Given the description of an element on the screen output the (x, y) to click on. 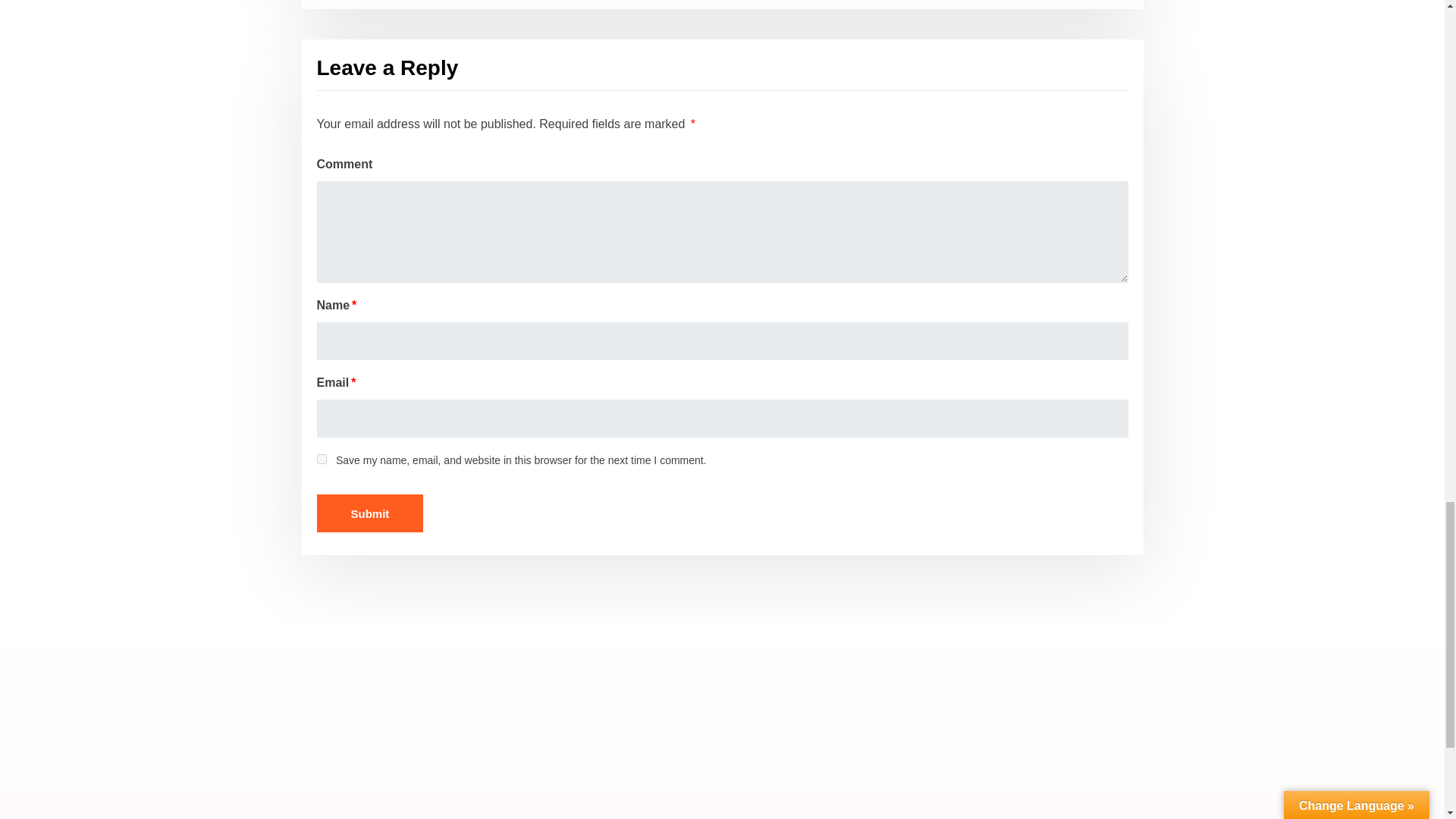
Submit (370, 513)
yes (321, 459)
Submit (370, 513)
